Given the description of an element on the screen output the (x, y) to click on. 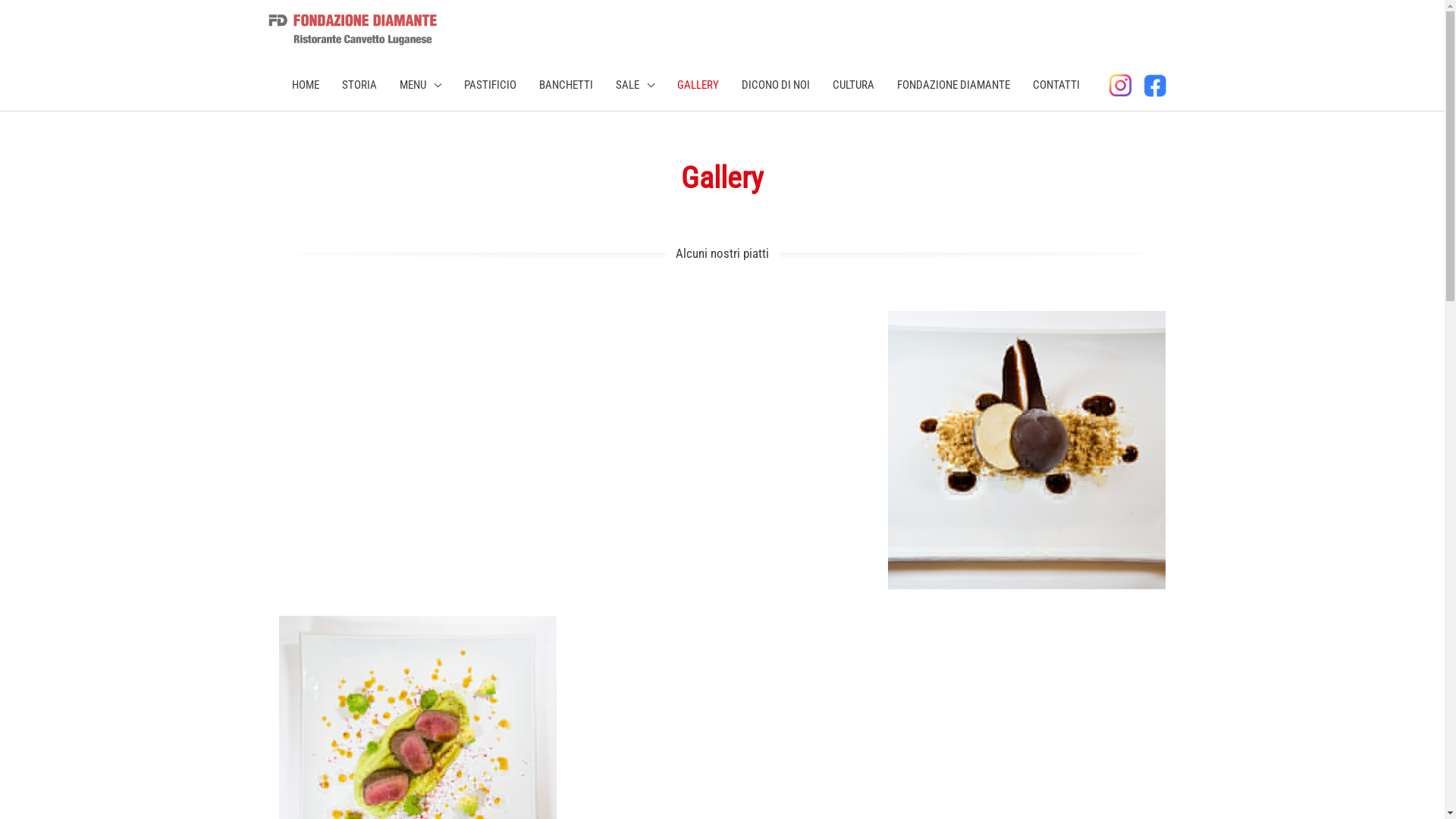
STORIA Element type: text (359, 84)
PASTIFICIO Element type: text (489, 84)
SALE Element type: text (634, 84)
CULTURA Element type: text (853, 84)
CONTATTI Element type: text (1056, 84)
GALLERY Element type: text (697, 84)
HOME Element type: text (305, 84)
MENU Element type: text (420, 84)
DICONO DI NOI Element type: text (775, 84)
FONDAZIONE DIAMANTE Element type: text (953, 84)
BANCHETTI Element type: text (565, 84)
